Given the description of an element on the screen output the (x, y) to click on. 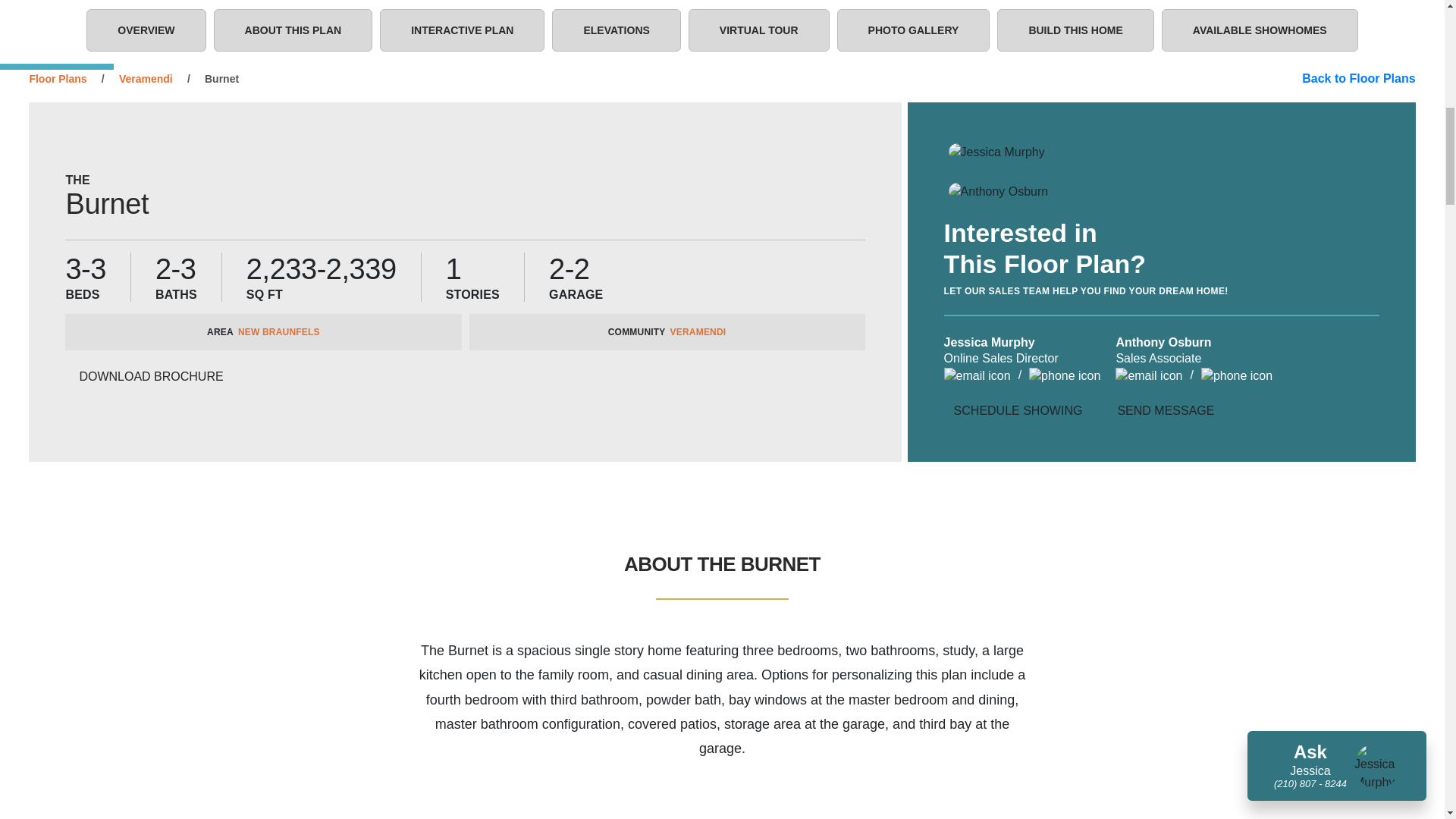
VIRTUAL TOUR (758, 30)
Floor Plans (57, 78)
ELEVATIONS (615, 30)
OVERVIEW (145, 30)
BUILD THIS HOME (1075, 30)
AVAILABLE SHOWHOMES (1259, 30)
ABOUT THIS PLAN (293, 30)
INTERACTIVE PLAN (666, 331)
Veramendi (462, 30)
PHOTO GALLERY (146, 78)
Back to Floor Plans (913, 30)
